Given the description of an element on the screen output the (x, y) to click on. 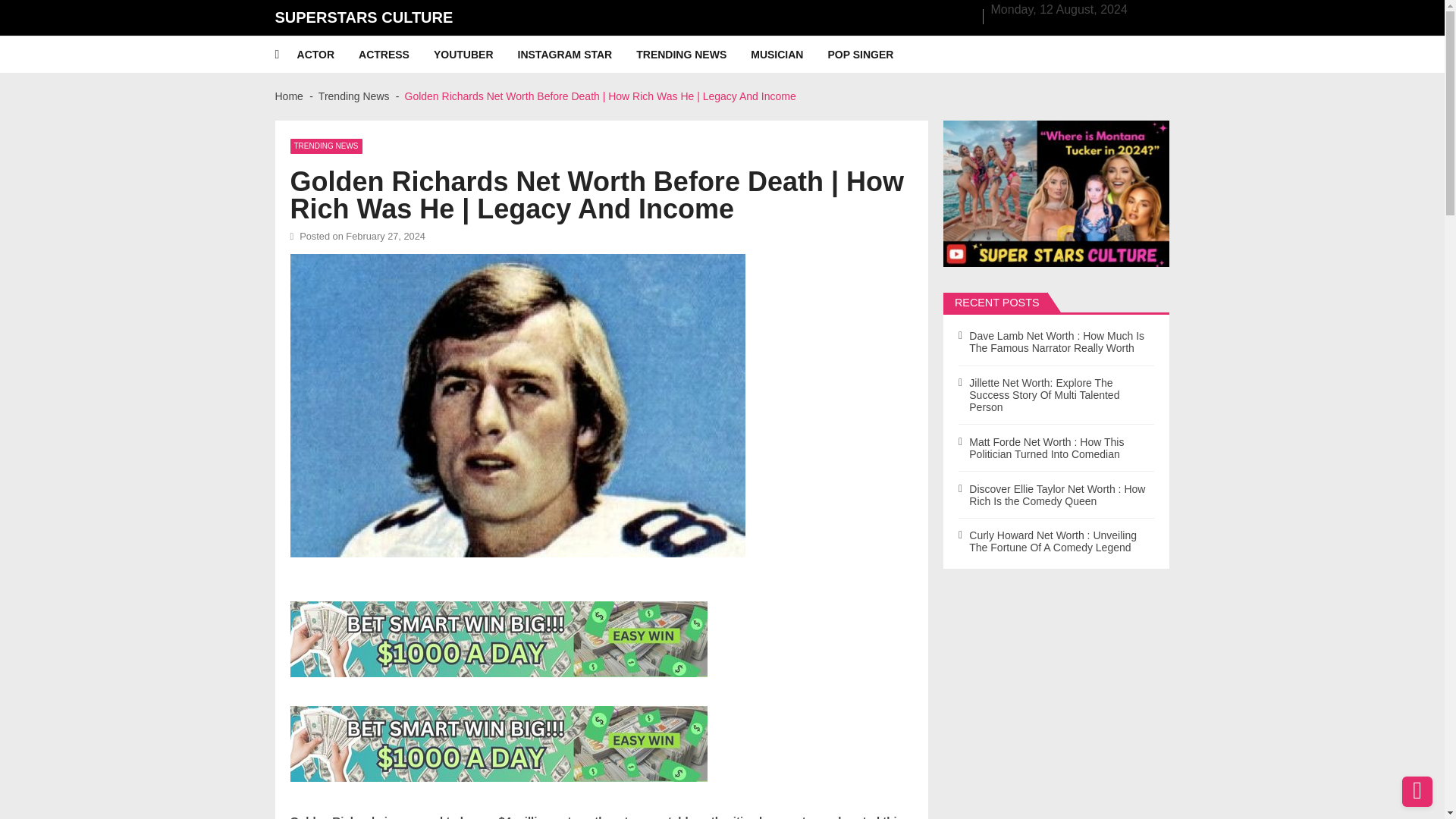
ACTOR (328, 54)
TRENDING NEWS (693, 54)
SUPERSTARS CULTURE (363, 17)
TRENDING NEWS (325, 145)
MUSICIAN (789, 54)
Trending News (354, 96)
ACTRESS (395, 54)
Home (288, 96)
YOUTUBER (475, 54)
POP SINGER (872, 54)
